Given the description of an element on the screen output the (x, y) to click on. 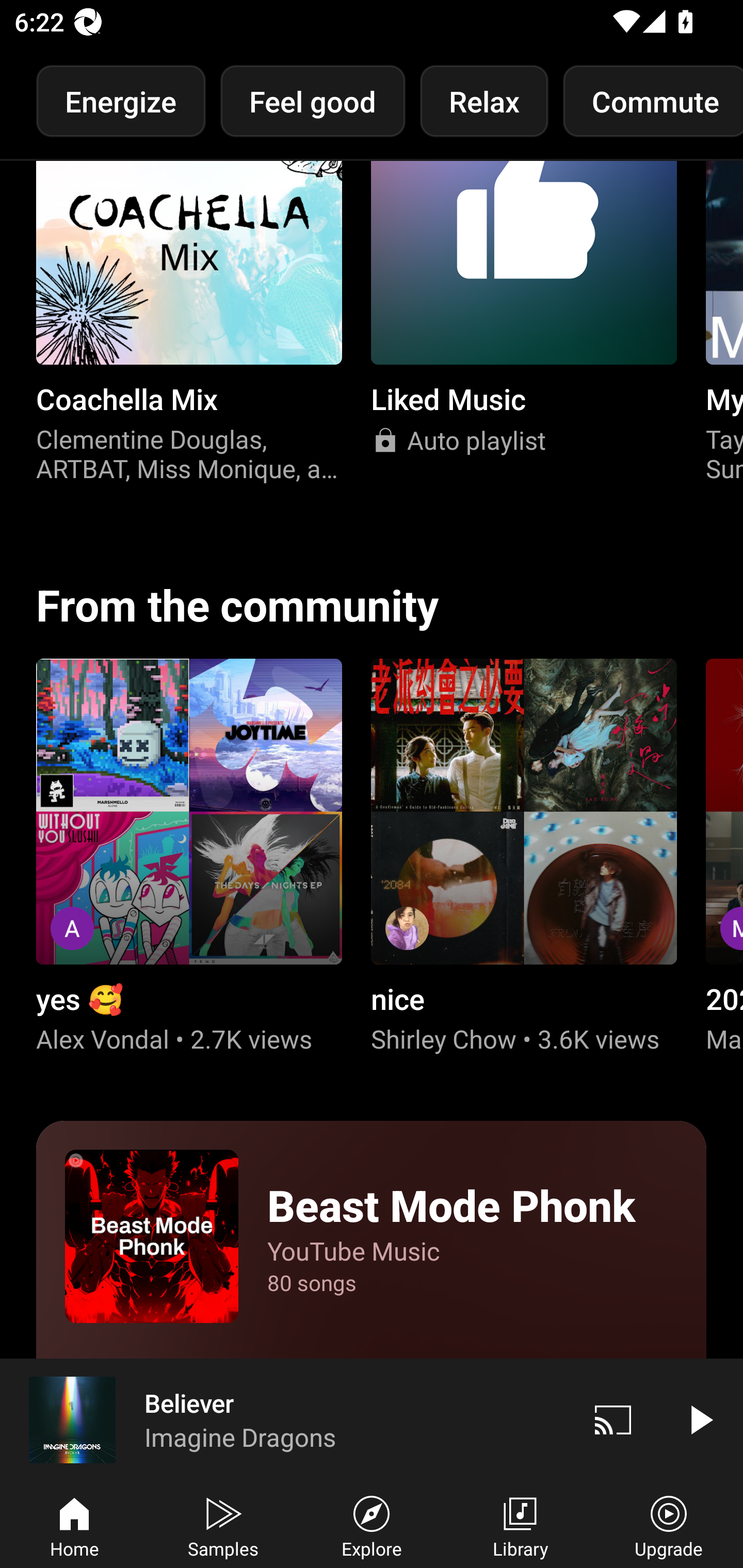
Believer Imagine Dragons (284, 1419)
Cast. Disconnected (612, 1419)
Play video (699, 1419)
Home (74, 1524)
Samples (222, 1524)
Explore (371, 1524)
Library (519, 1524)
Upgrade (668, 1524)
